Given the description of an element on the screen output the (x, y) to click on. 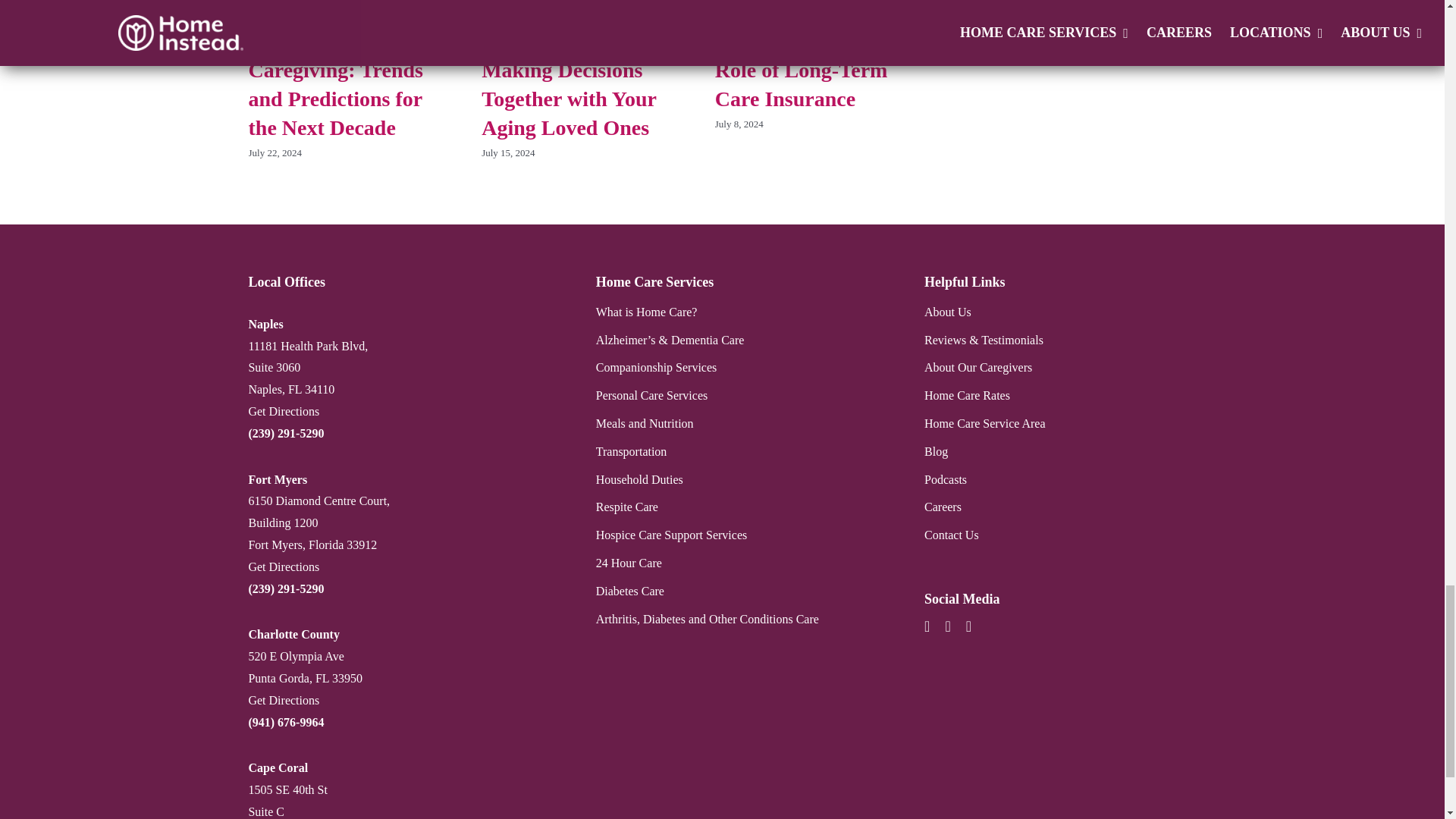
Planning Ahead: The Role of Long-Term Care Insurance (810, 69)
